Given the description of an element on the screen output the (x, y) to click on. 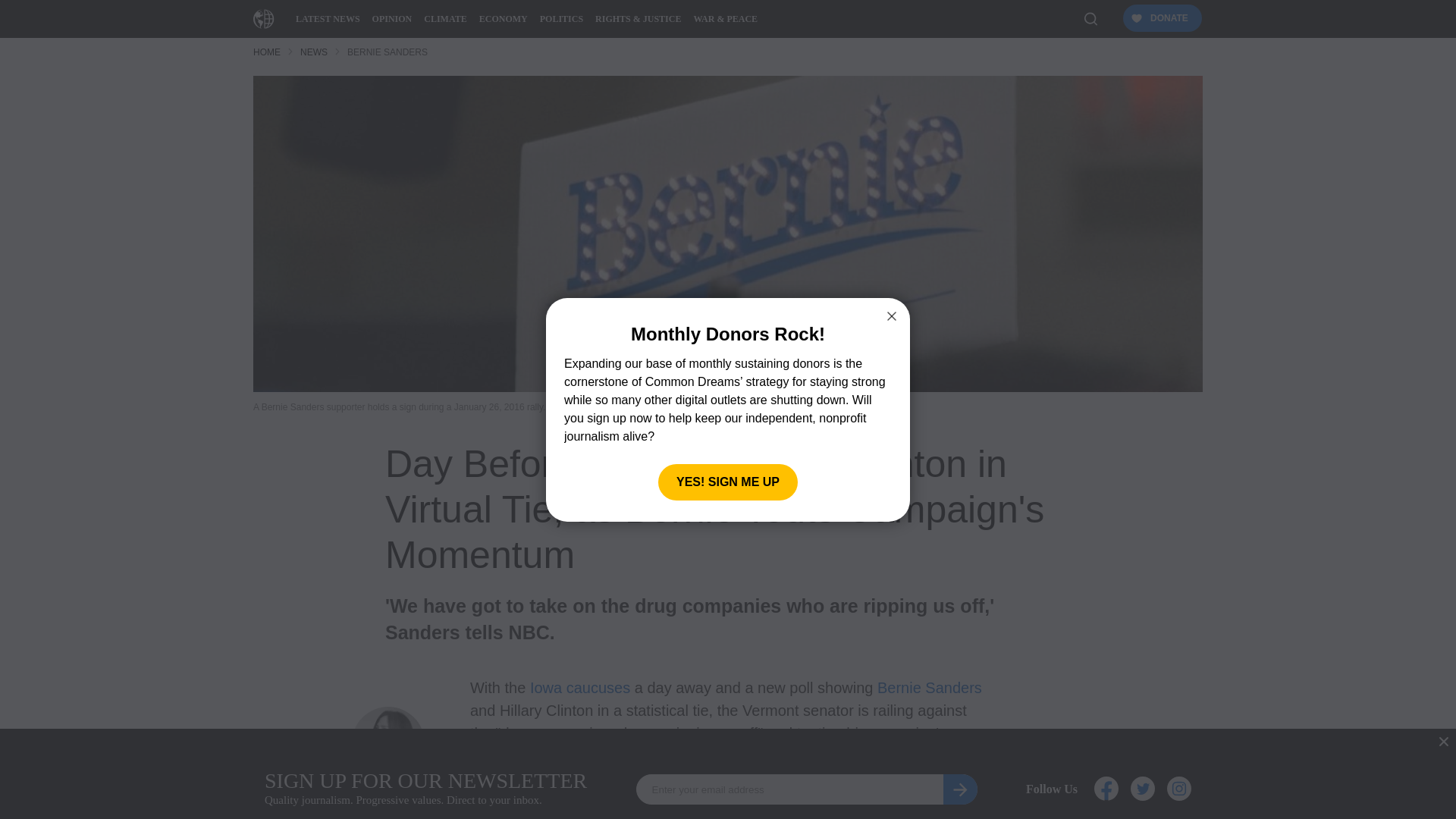
POLITICS (561, 18)
LATEST NEWS (327, 18)
ECONOMY (503, 18)
Common Dreams (264, 17)
CLIMATE (444, 18)
Donate Button (1160, 19)
OPINION (392, 18)
